Given the description of an element on the screen output the (x, y) to click on. 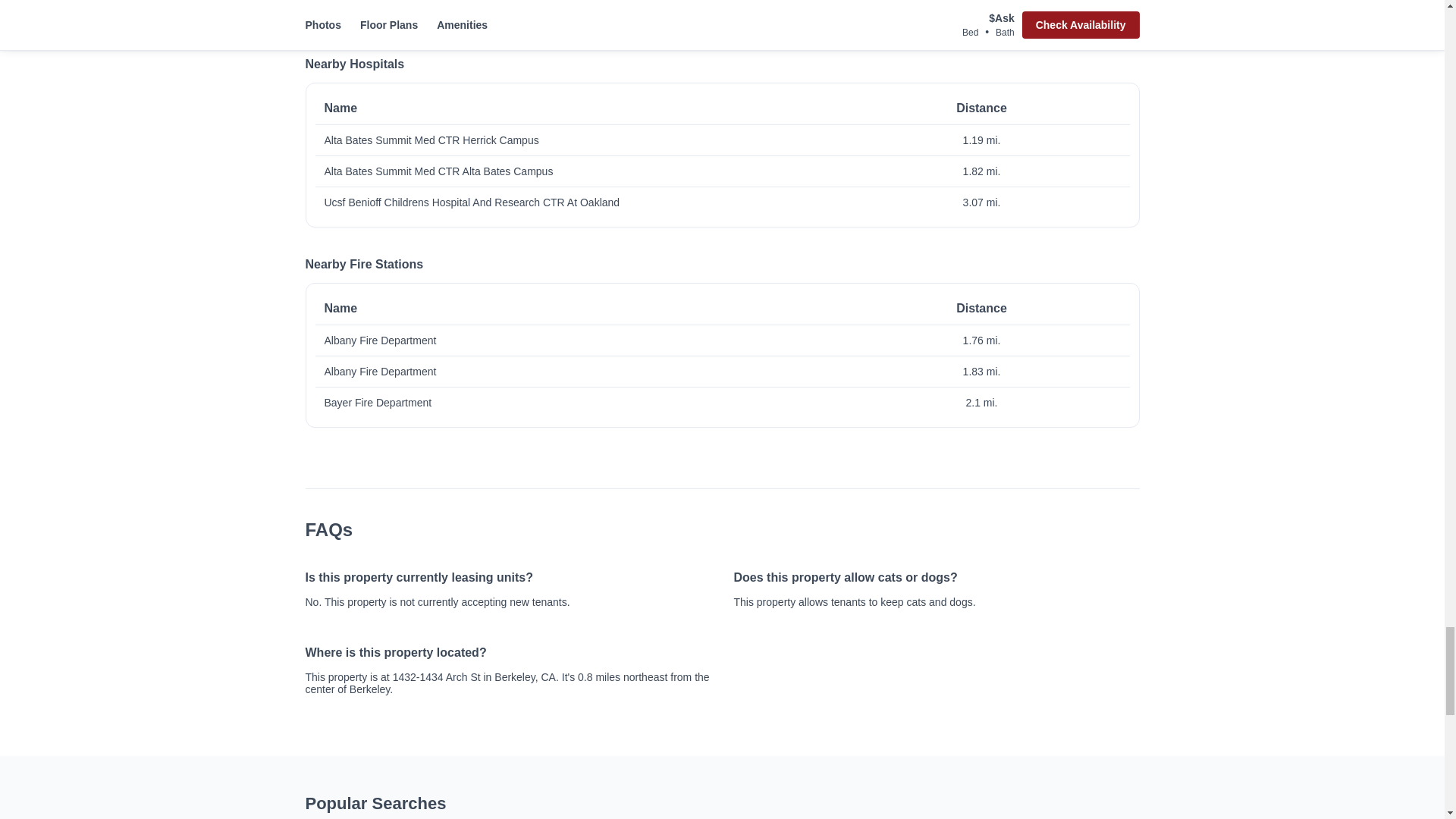
Alta Bates Summit Med CTR Herrick Campus (587, 140)
Alta Bates Summit Med CTR Alta Bates Campus (587, 171)
Bayer Fire Department (587, 402)
Albany Fire Department (587, 371)
Albany Fire Department (587, 340)
Ucsf Benioff Childrens Hospital And Research CTR At Oakland (587, 202)
